Given the description of an element on the screen output the (x, y) to click on. 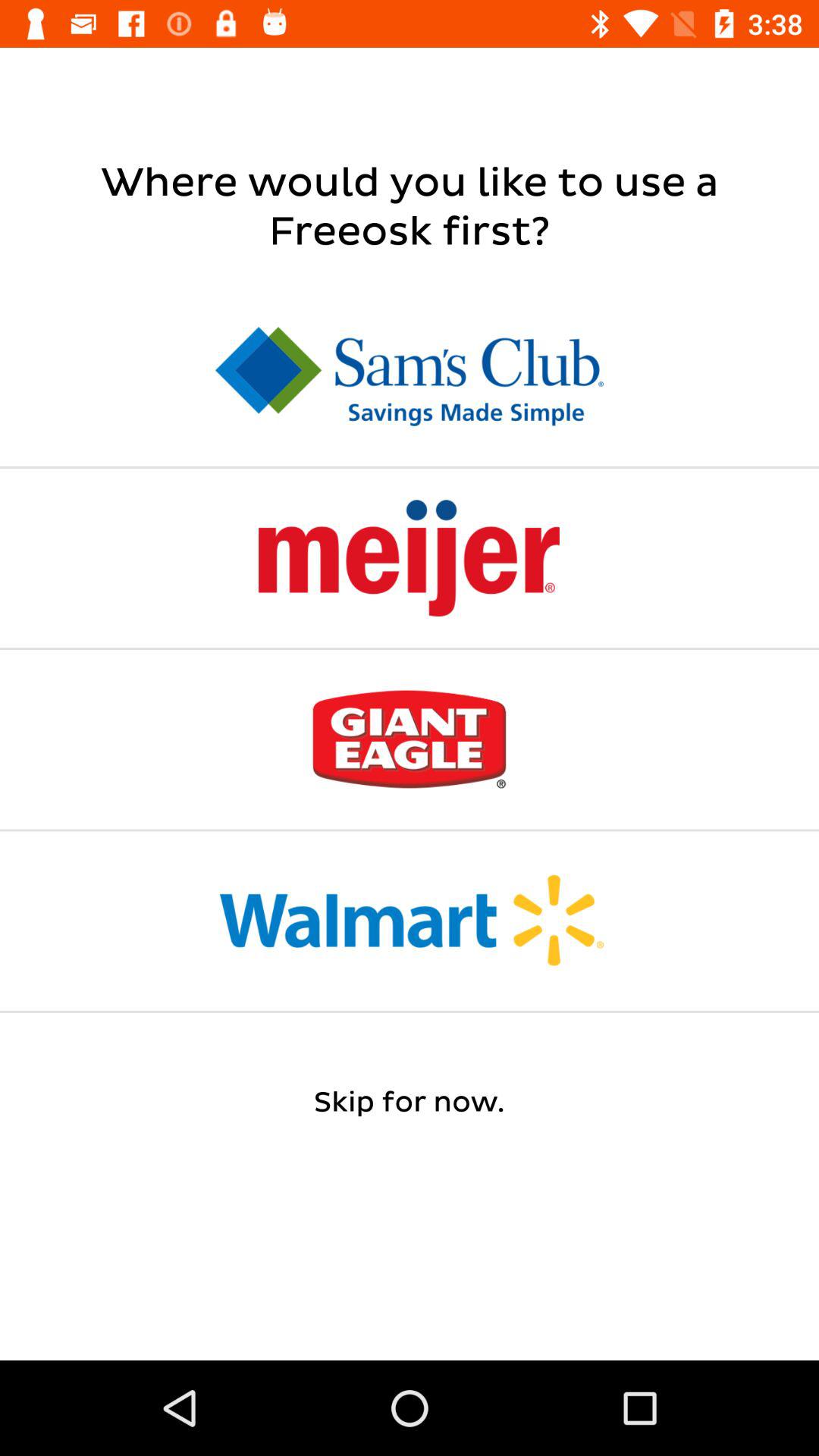
scroll until the skip for now. (409, 1102)
